Given the description of an element on the screen output the (x, y) to click on. 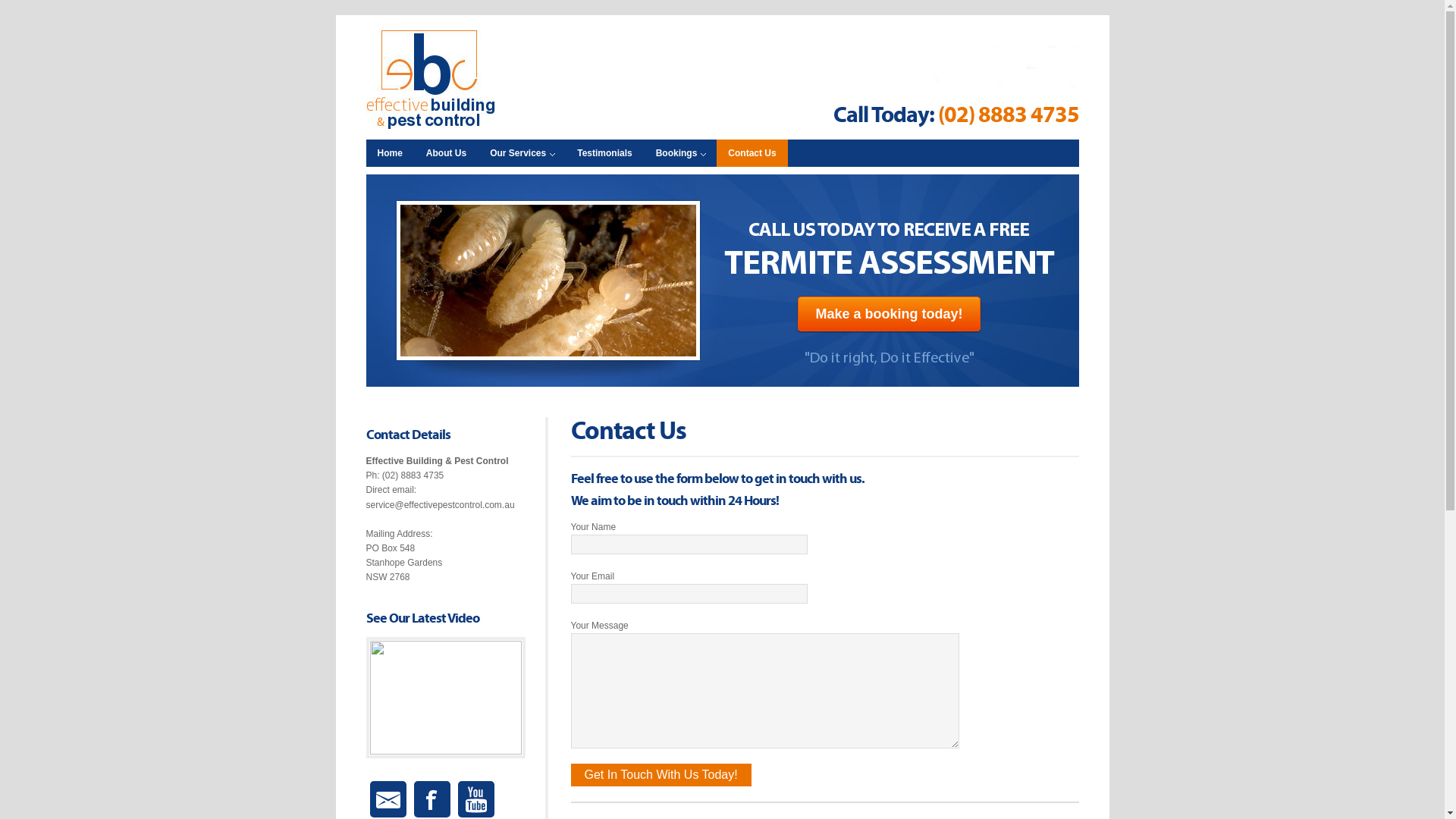
Contact Us Element type: text (751, 152)
Make a booking today! Element type: text (888, 313)
Email Element type: text (388, 799)
movie Element type: hover (444, 697)
Facebook Element type: text (432, 799)
About Us Element type: text (445, 152)
YouTube Element type: text (476, 799)
Home Element type: text (389, 152)
Get In Touch With Us Today! Element type: text (660, 774)
Effective Building & Pest Control Sydney Element type: text (441, 79)
Testimonials Element type: text (604, 152)
